Given the description of an element on the screen output the (x, y) to click on. 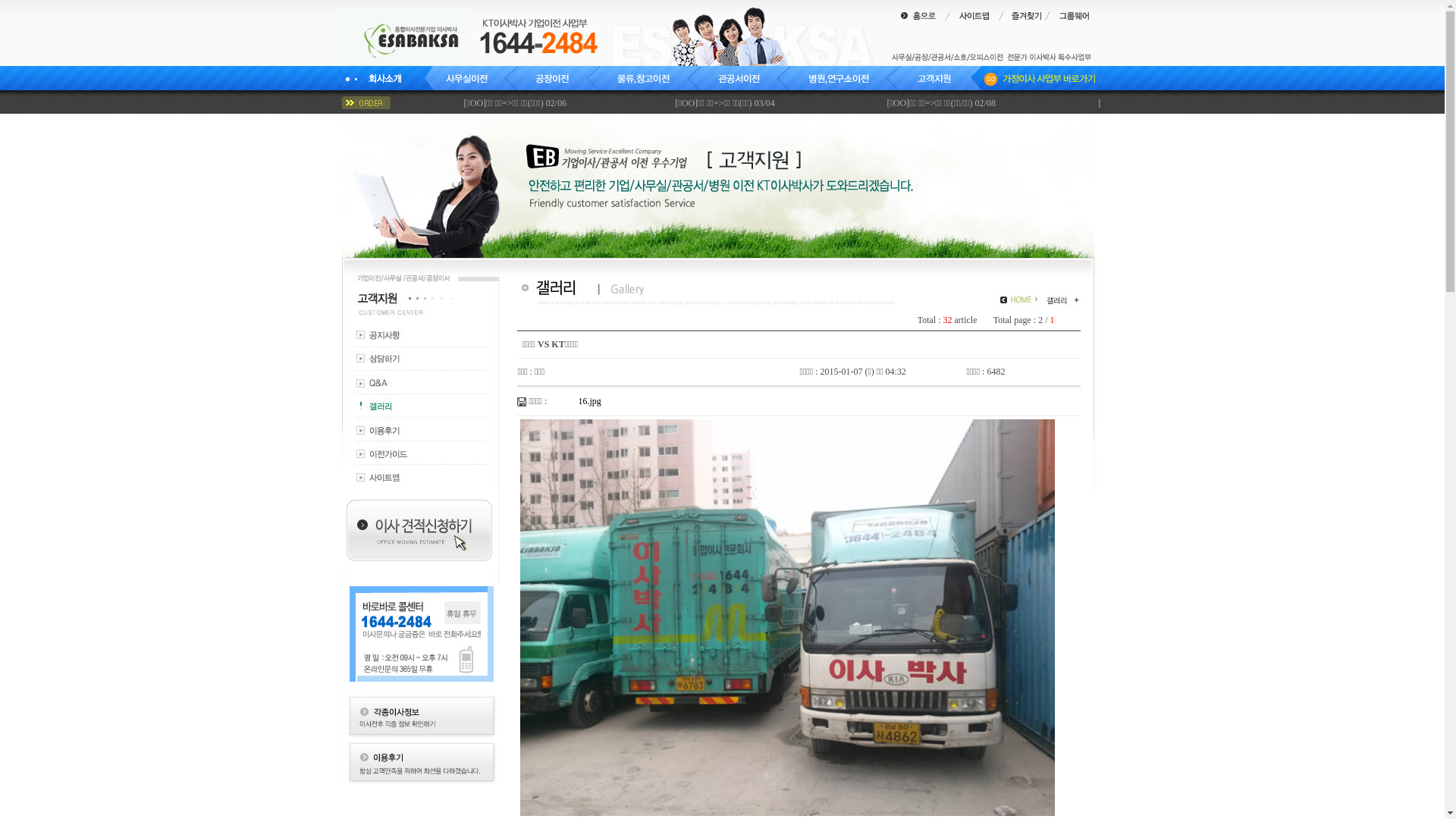
16.jpg Element type: text (588, 400)
